Given the description of an element on the screen output the (x, y) to click on. 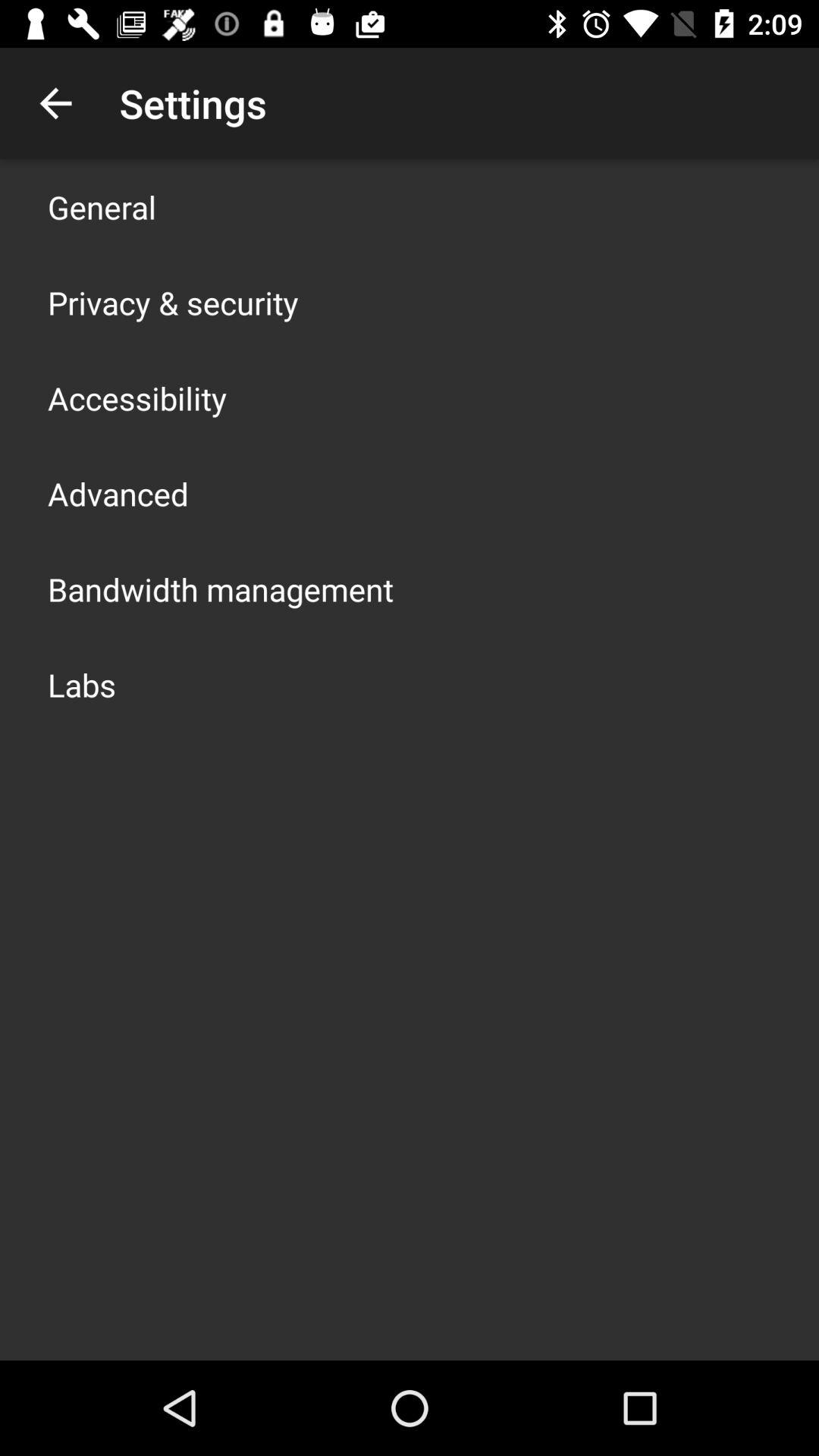
open advanced item (117, 493)
